Given the description of an element on the screen output the (x, y) to click on. 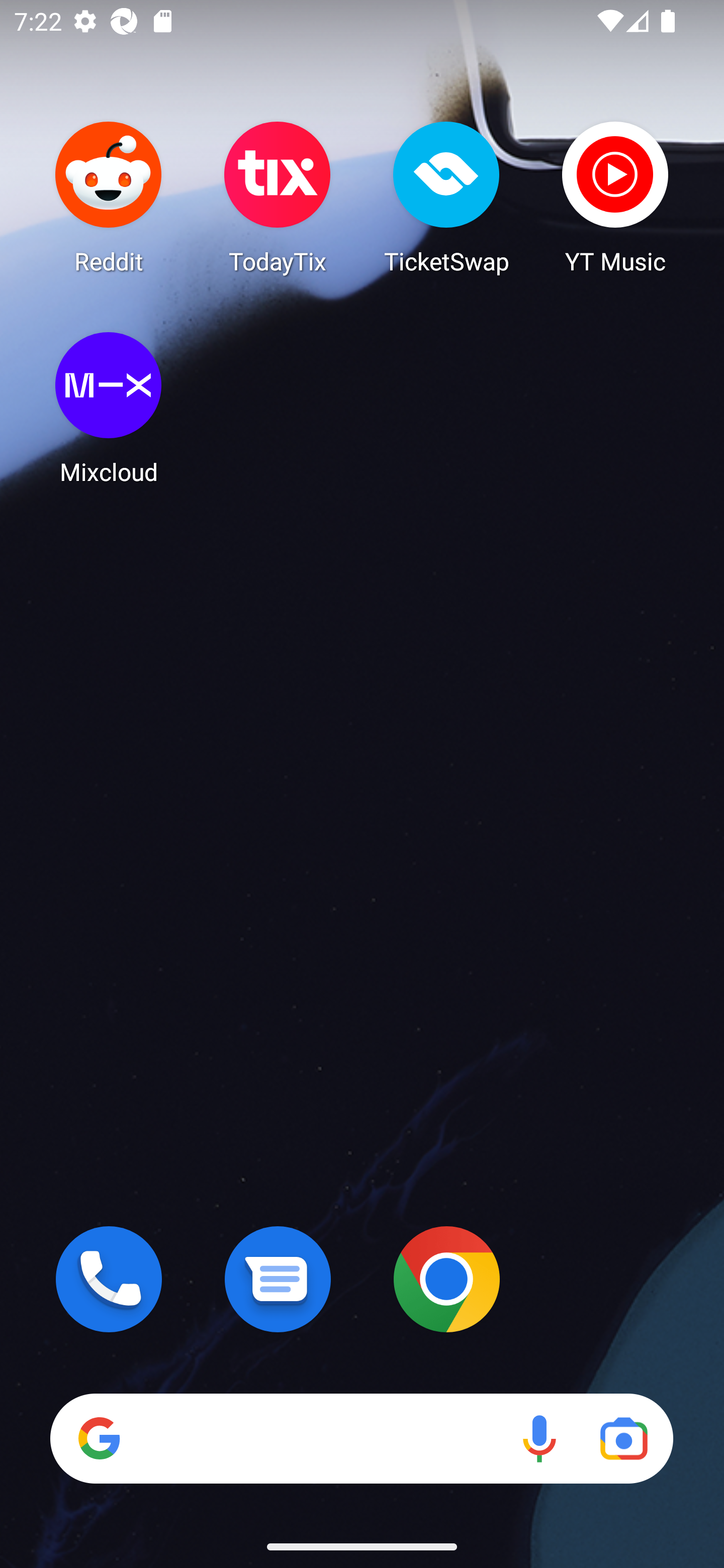
Reddit (108, 196)
TodayTix (277, 196)
TicketSwap (445, 196)
YT Music (615, 196)
Mixcloud (108, 407)
Phone (108, 1279)
Messages (277, 1279)
Chrome (446, 1279)
Voice search (539, 1438)
Google Lens (623, 1438)
